Given the description of an element on the screen output the (x, y) to click on. 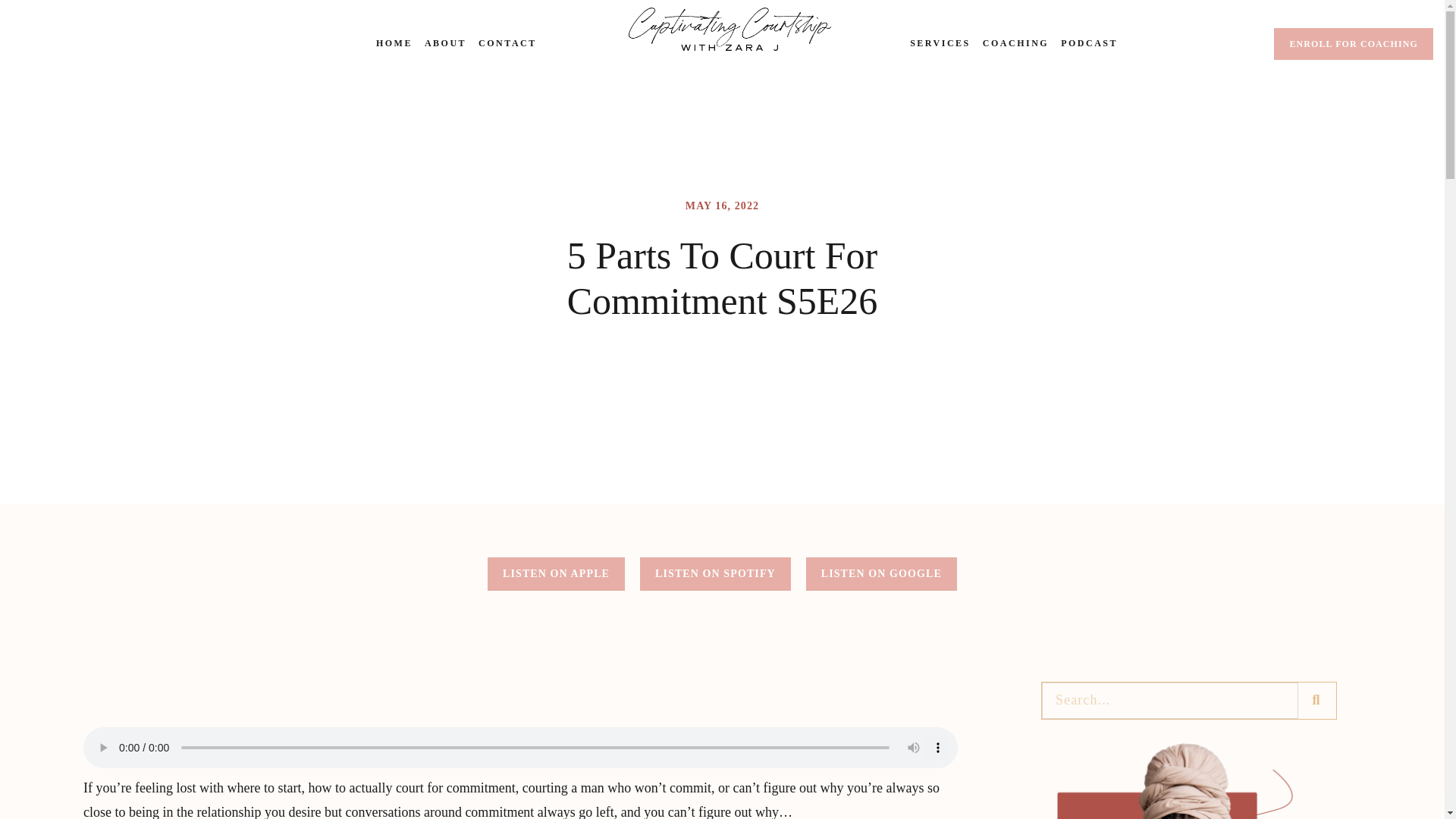
COACHING (1015, 44)
LISTEN ON APPLE (555, 573)
ABOUT (445, 44)
ENROLL FOR COACHING (1353, 43)
HOME (393, 44)
PODCAST (1089, 44)
CONTACT (508, 44)
LISTEN ON GOOGLE (881, 573)
SERVICES (940, 44)
LISTEN ON SPOTIFY (715, 573)
